Given the description of an element on the screen output the (x, y) to click on. 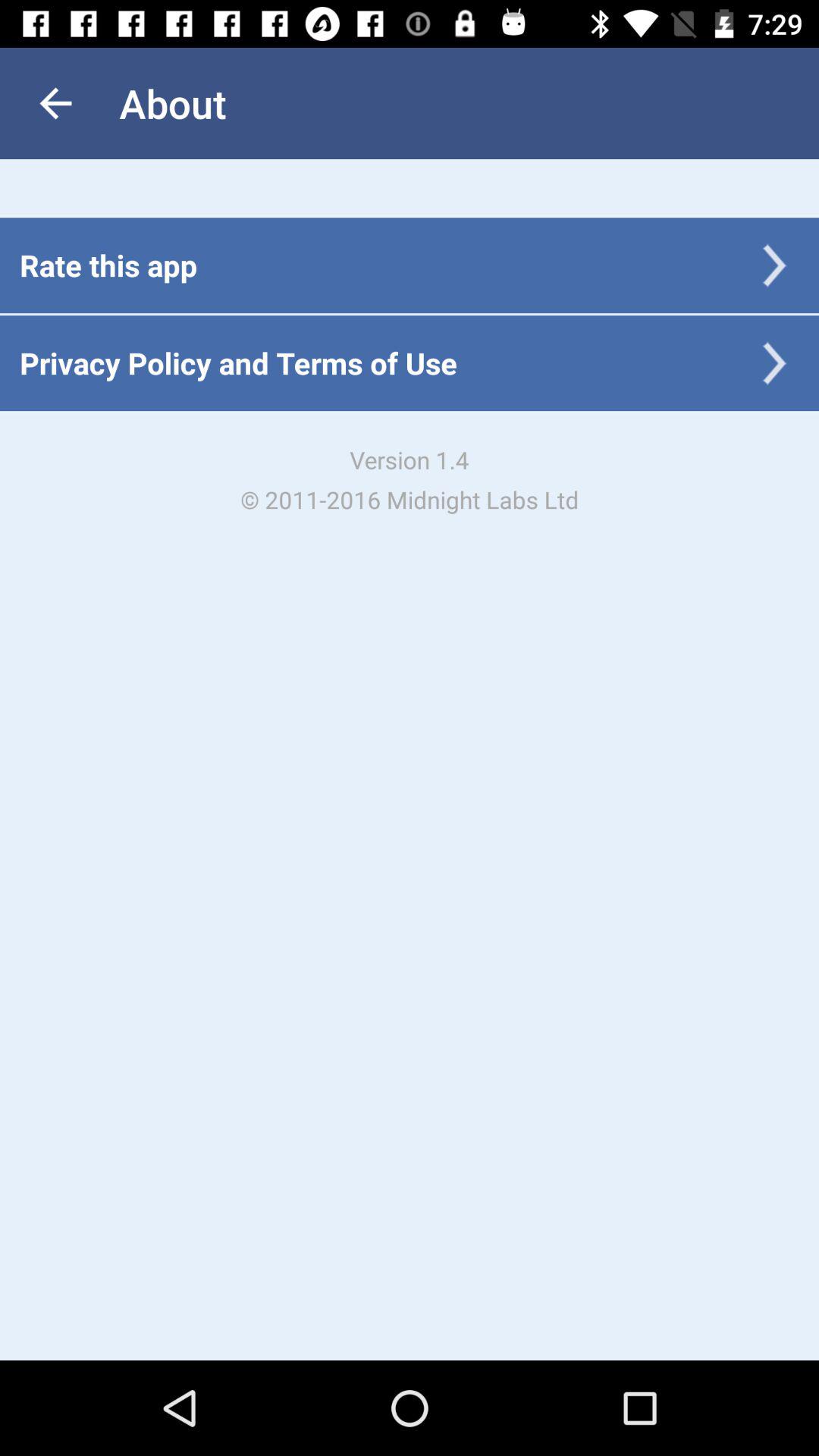
launch the icon below the rate this app item (238, 362)
